Given the description of an element on the screen output the (x, y) to click on. 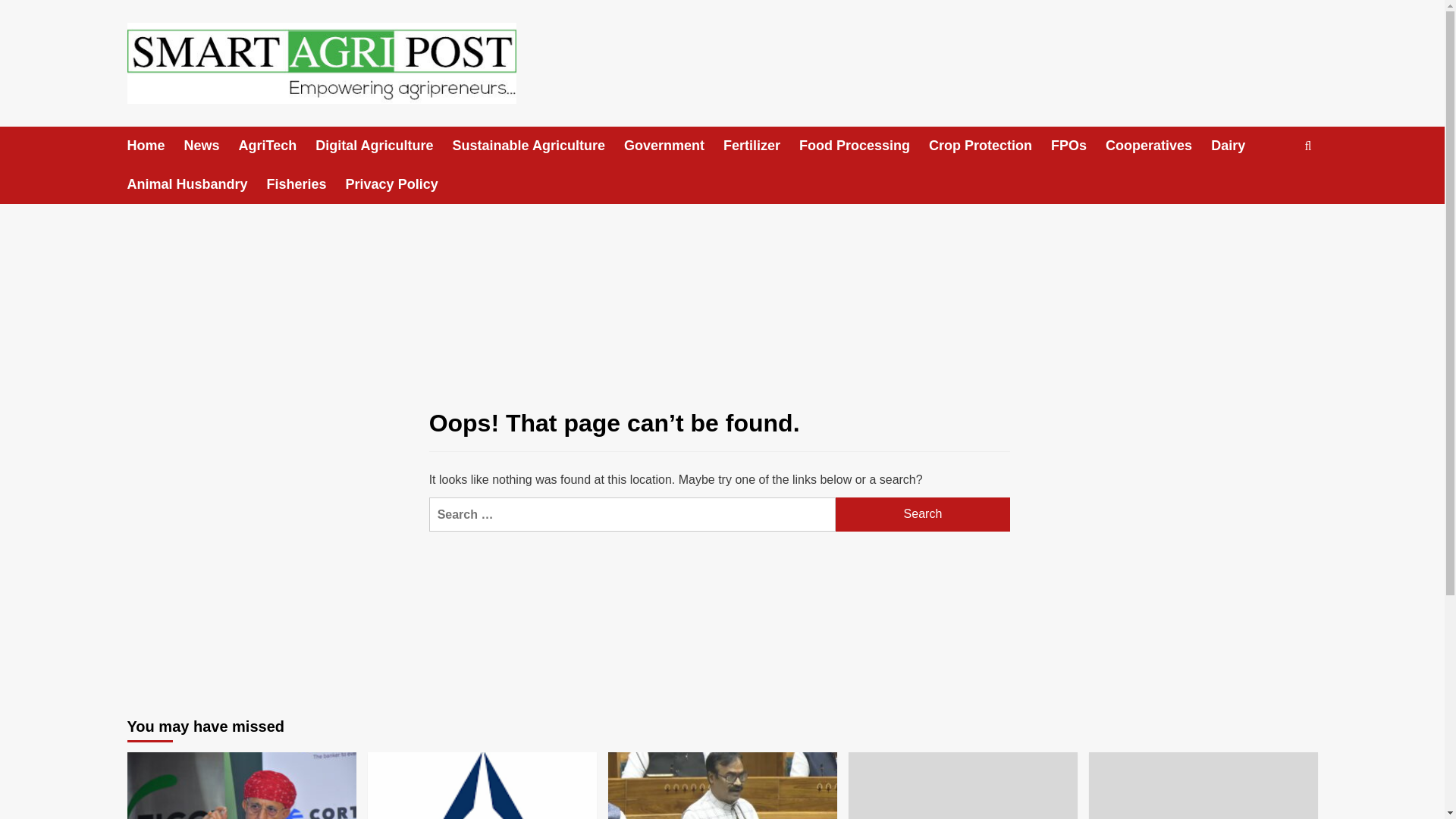
Sustainable Agriculture (538, 145)
Search (922, 514)
Privacy Policy (401, 184)
Digital Agriculture (383, 145)
AgriTech (276, 145)
Fisheries (306, 184)
Animal Husbandry (197, 184)
News (211, 145)
Fertilizer (761, 145)
Search (1272, 192)
Food Processing (863, 145)
Government (673, 145)
Crop Protection (989, 145)
FPOs (1078, 145)
Home (156, 145)
